Given the description of an element on the screen output the (x, y) to click on. 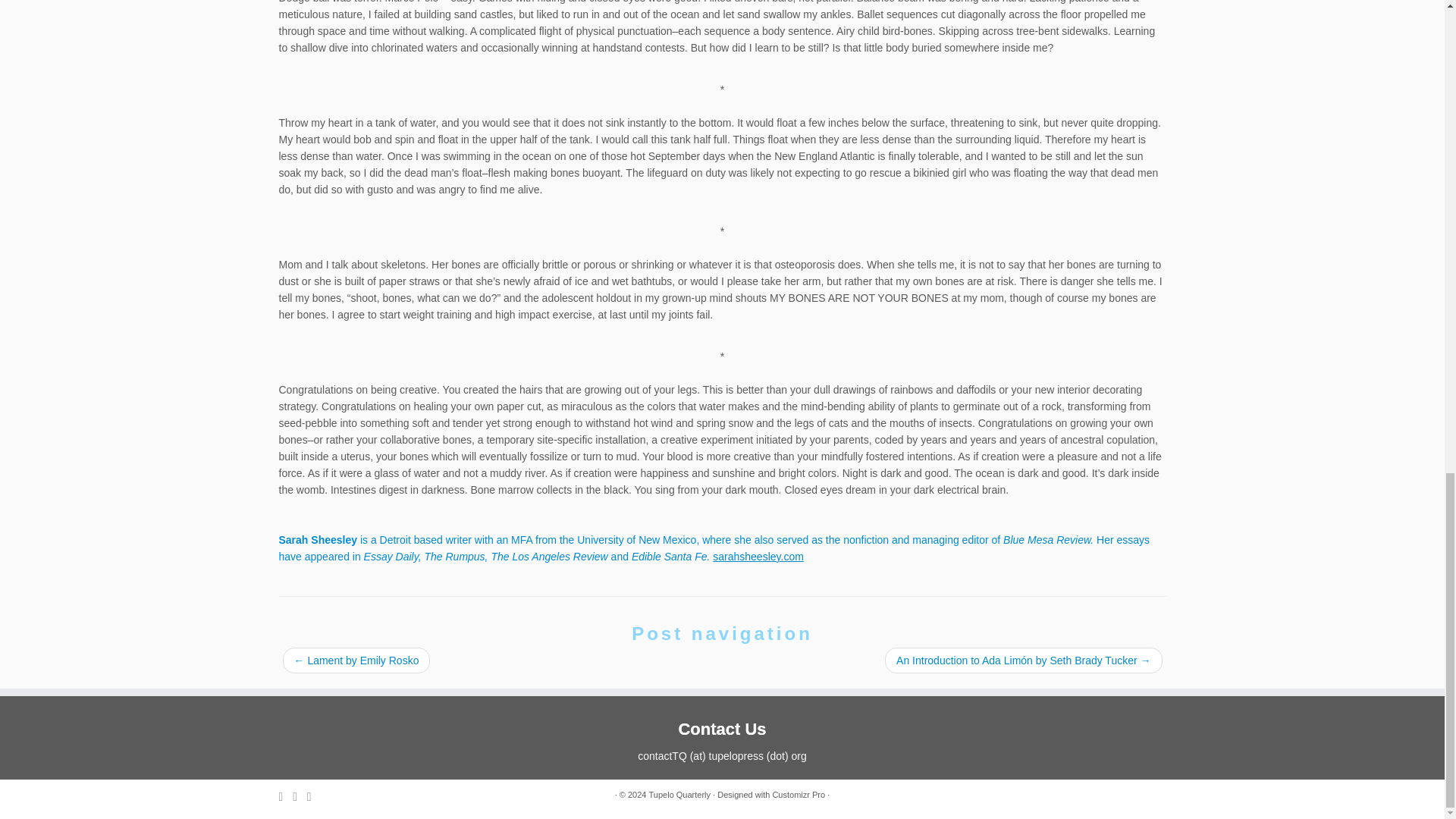
Customizr Pro (798, 795)
Follow me on Twitter (299, 796)
Subscribe to my rss feed (286, 796)
Tupelo Quarterly (680, 795)
sarahsheesley.com (758, 556)
Follow me on Facebook (314, 796)
